Given the description of an element on the screen output the (x, y) to click on. 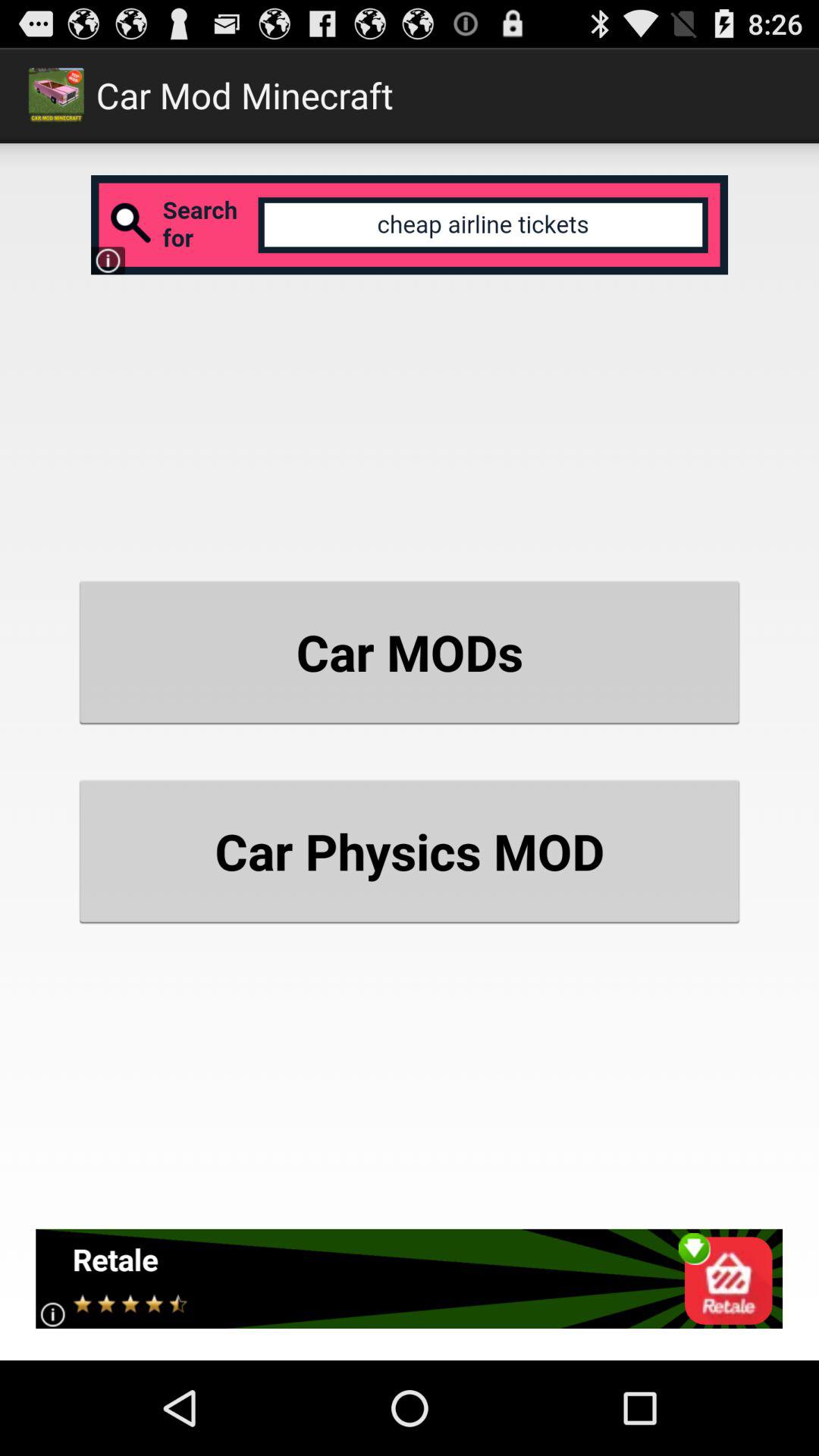
select item at the bottom (408, 1278)
